Given the description of an element on the screen output the (x, y) to click on. 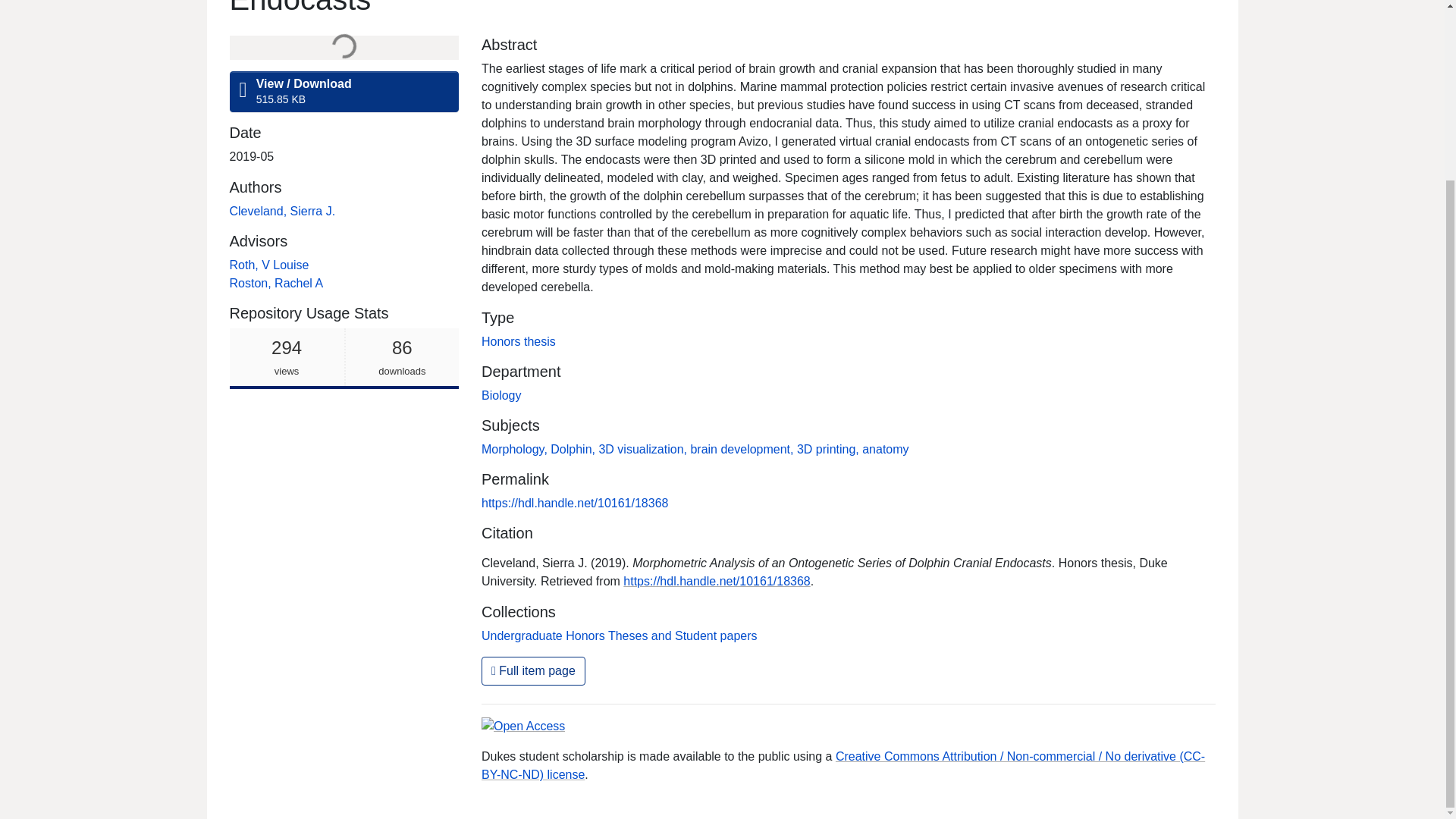
Dolphin, (574, 449)
Morphology, (515, 449)
Roston, Rachel A (275, 282)
Roth, V Louise (268, 264)
Honors thesis (343, 358)
Cleveland, Sierra J. (518, 341)
Undergraduate Honors Theses and Student papers (281, 210)
Biology (619, 635)
brain development, (501, 395)
